Given the description of an element on the screen output the (x, y) to click on. 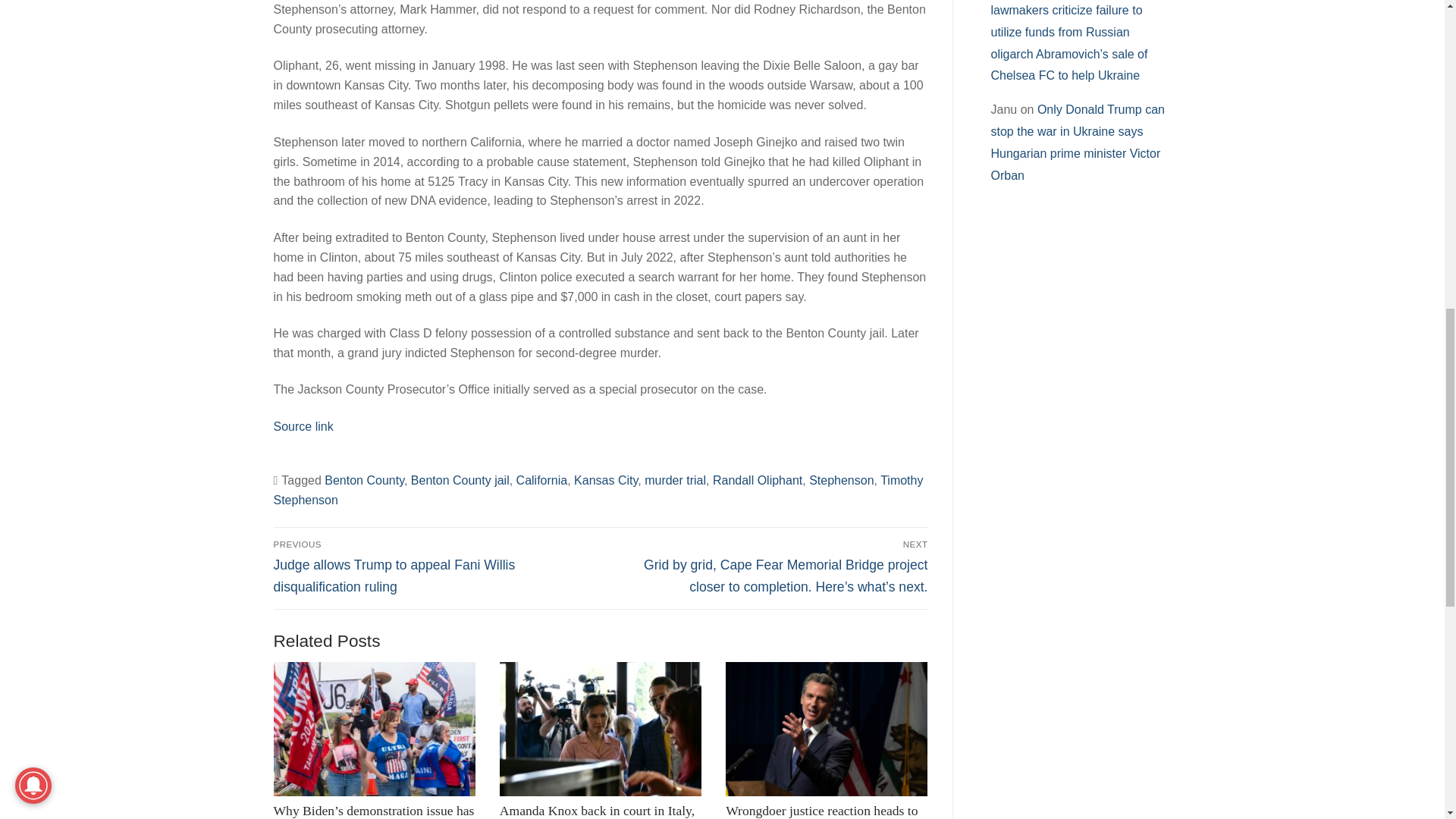
Kansas City (605, 480)
Amanda Knox back in court in Italy, in slander retrial (596, 811)
Stephenson (841, 480)
California (541, 480)
Wrongdoer justice reaction heads to the California tally (826, 728)
Randall Oliphant (757, 480)
Source link (303, 426)
Amanda Knox back in court in Italy, in slander retrial (596, 811)
Timothy Stephenson (598, 490)
Amanda Knox back in court in Italy, in slander retrial (600, 728)
